Given the description of an element on the screen output the (x, y) to click on. 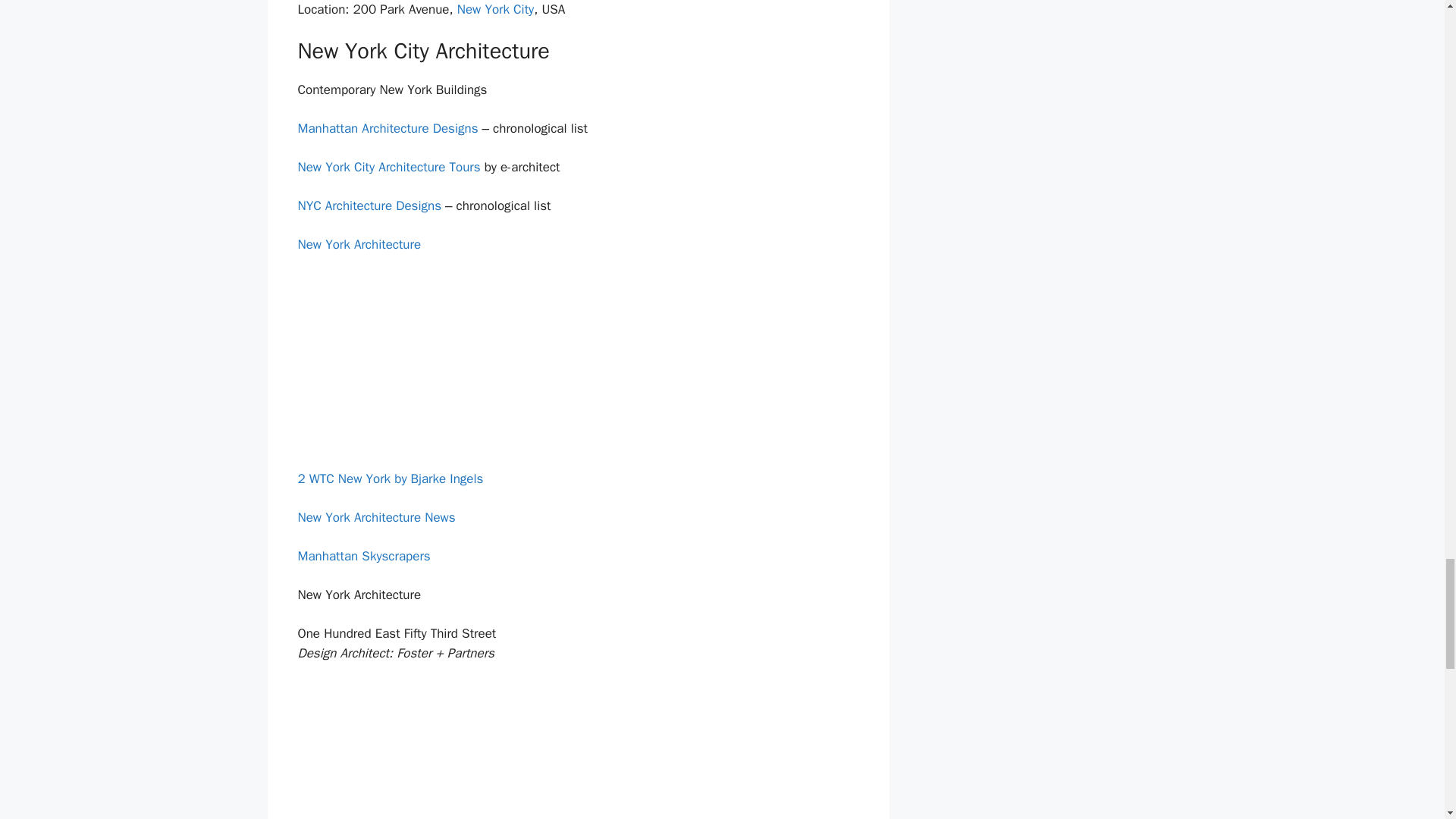
New York City Architecture Tours (388, 166)
New York City (495, 9)
New York Architecture News (375, 517)
Manhattan Architecture Designs (387, 128)
New York Architecture (358, 244)
NYC Architecture Designs (369, 205)
2 WTC New York by Bjarke Ingels (390, 478)
